Given the description of an element on the screen output the (x, y) to click on. 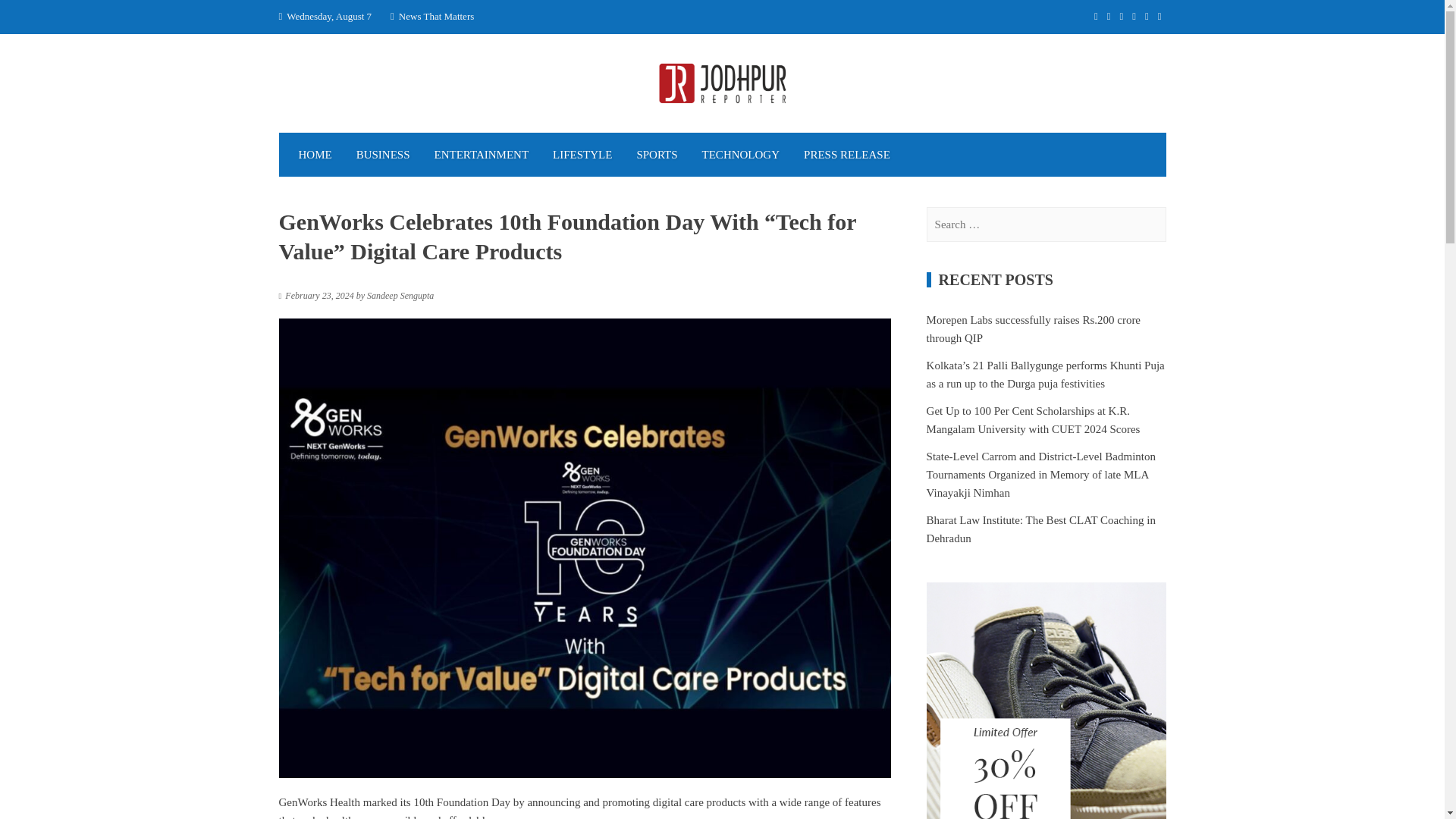
SPORTS (656, 154)
HOME (314, 154)
TECHNOLOGY (741, 154)
ENTERTAINMENT (481, 154)
LIFESTYLE (582, 154)
Bharat Law Institute: The Best CLAT Coaching in Dehradun (1041, 529)
BUSINESS (382, 154)
PRESS RELEASE (847, 154)
Search (30, 16)
